Given the description of an element on the screen output the (x, y) to click on. 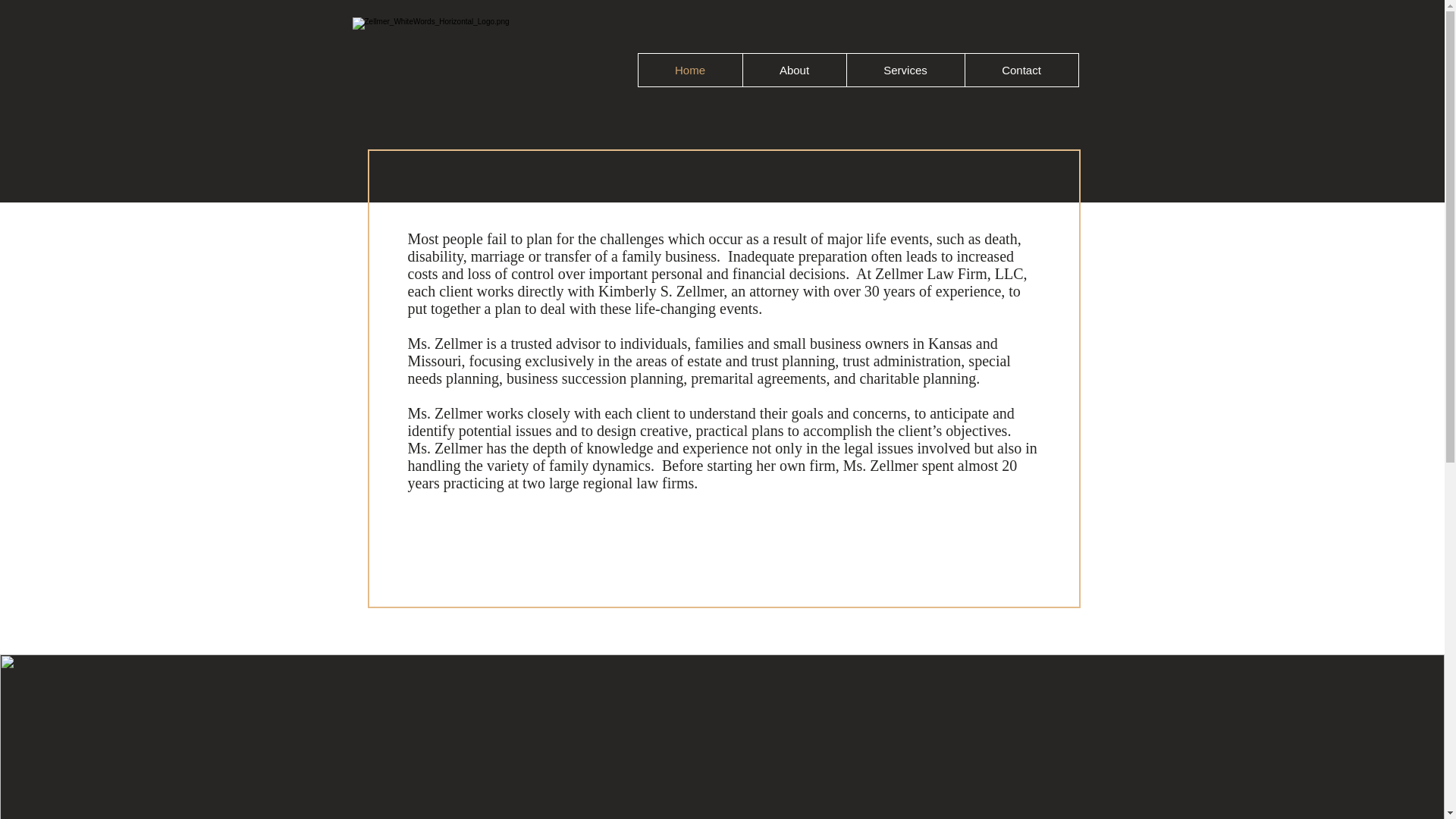
About (793, 70)
Home (690, 70)
Services (904, 70)
Contact (1020, 70)
